Given the description of an element on the screen output the (x, y) to click on. 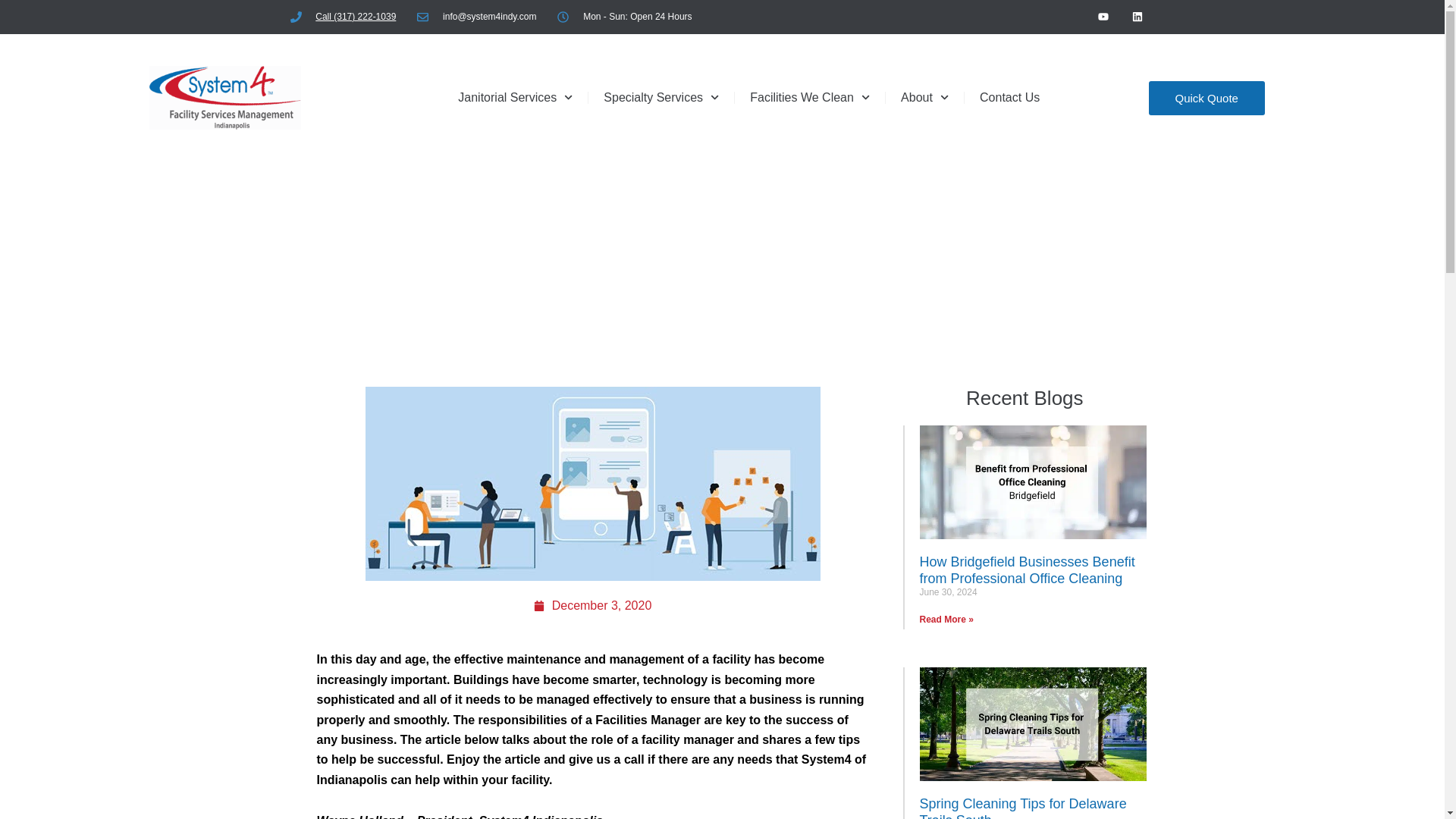
Facilities We Clean (810, 97)
Contact Us (1008, 97)
About (924, 97)
Janitorial Services (515, 97)
Linkedin (1137, 17)
Youtube (1103, 17)
Specialty Services (660, 97)
